Given the description of an element on the screen output the (x, y) to click on. 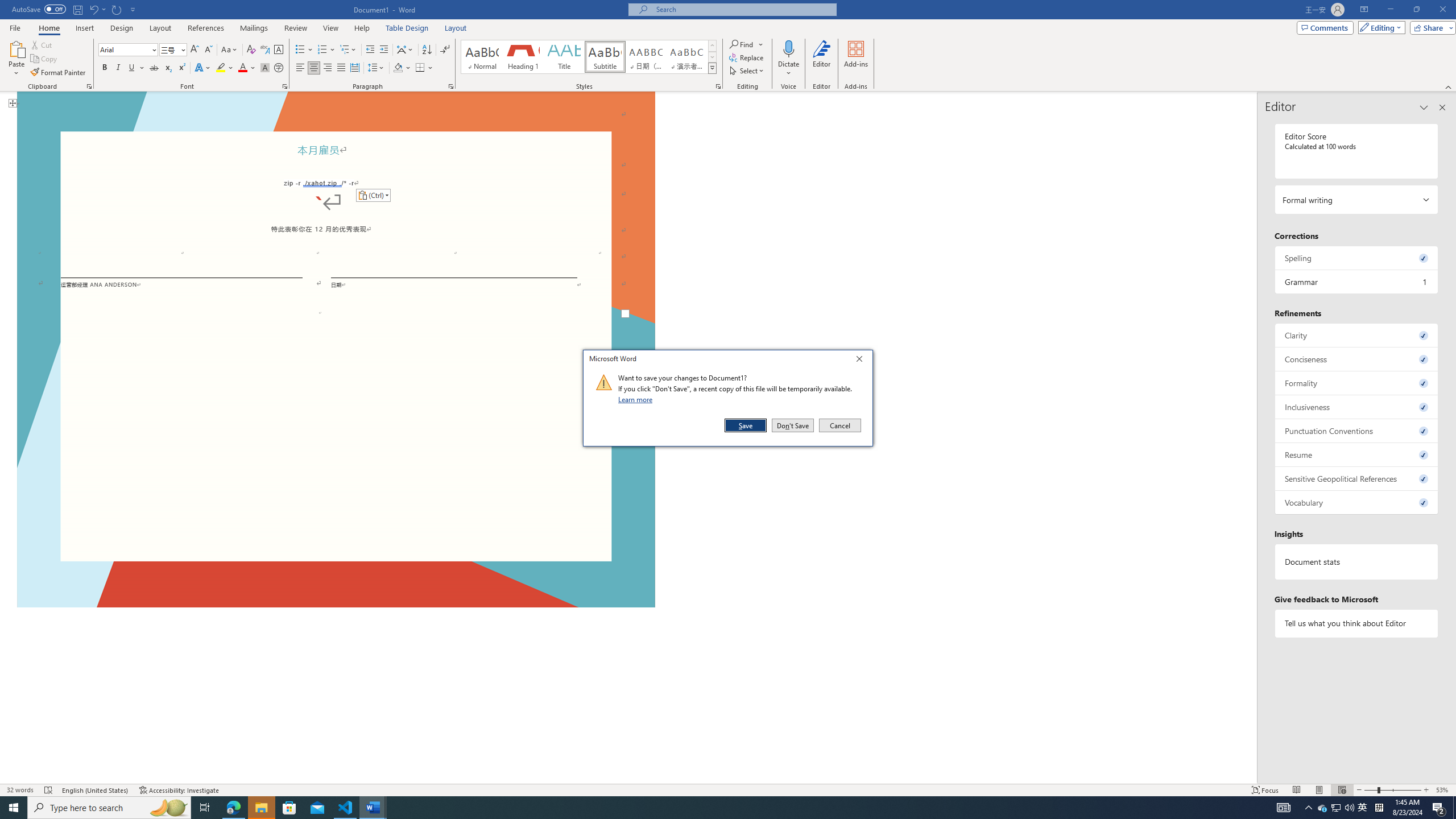
Action: Paste alternatives (373, 195)
